Given the description of an element on the screen output the (x, y) to click on. 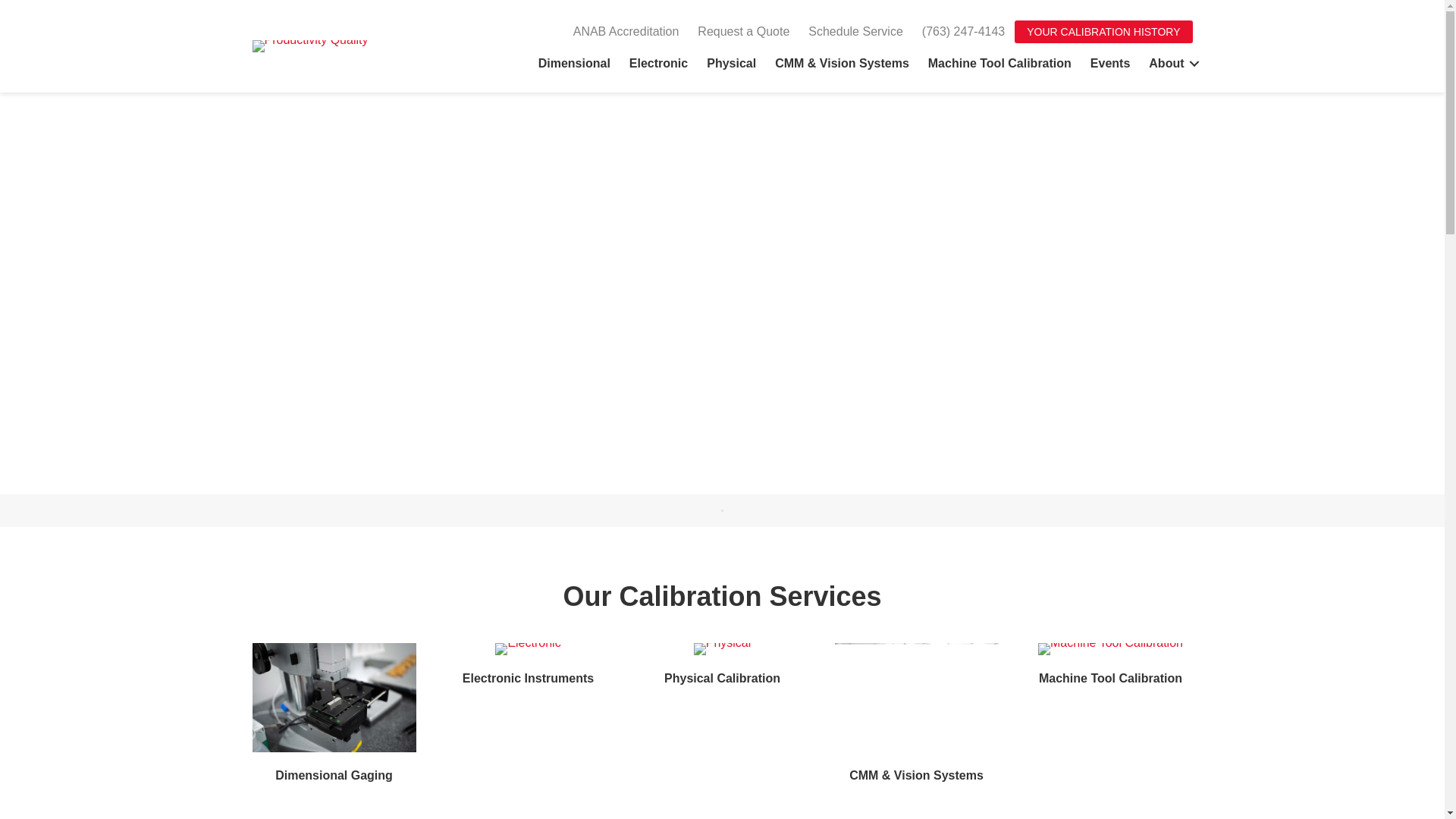
Schedule Service (855, 31)
Dimensional Gaging (334, 775)
Physical (731, 63)
About (1172, 63)
YOUR CALIBRATION HISTORY (1103, 31)
Dimensional (574, 63)
Machine Tool Calibration (1110, 677)
Physical Calibration (721, 677)
Electronic Instruments (528, 677)
ANAB Accreditation (626, 31)
